Given the description of an element on the screen output the (x, y) to click on. 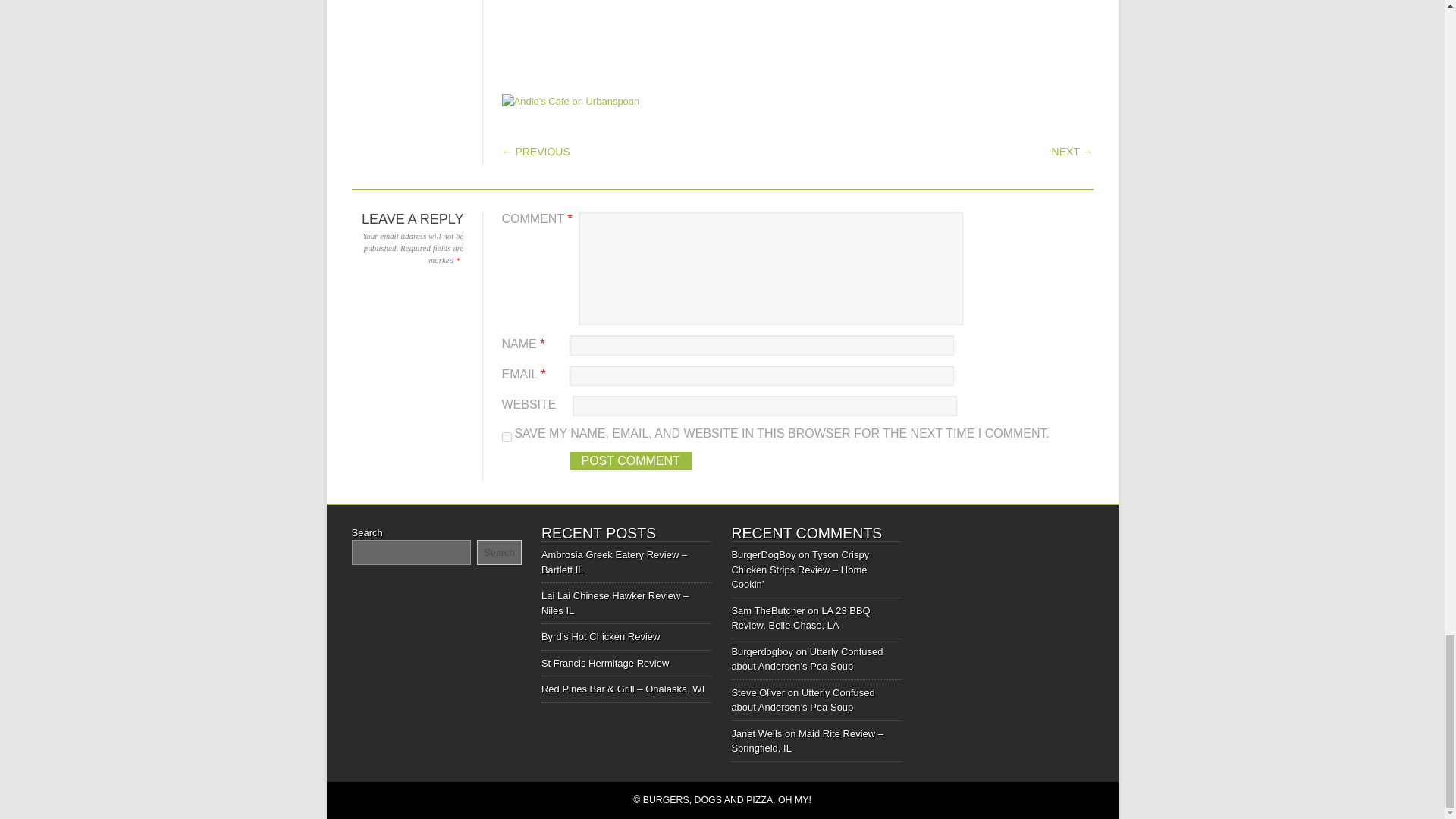
yes (507, 437)
frings png (797, 4)
Post Comment (630, 461)
